Given the description of an element on the screen output the (x, y) to click on. 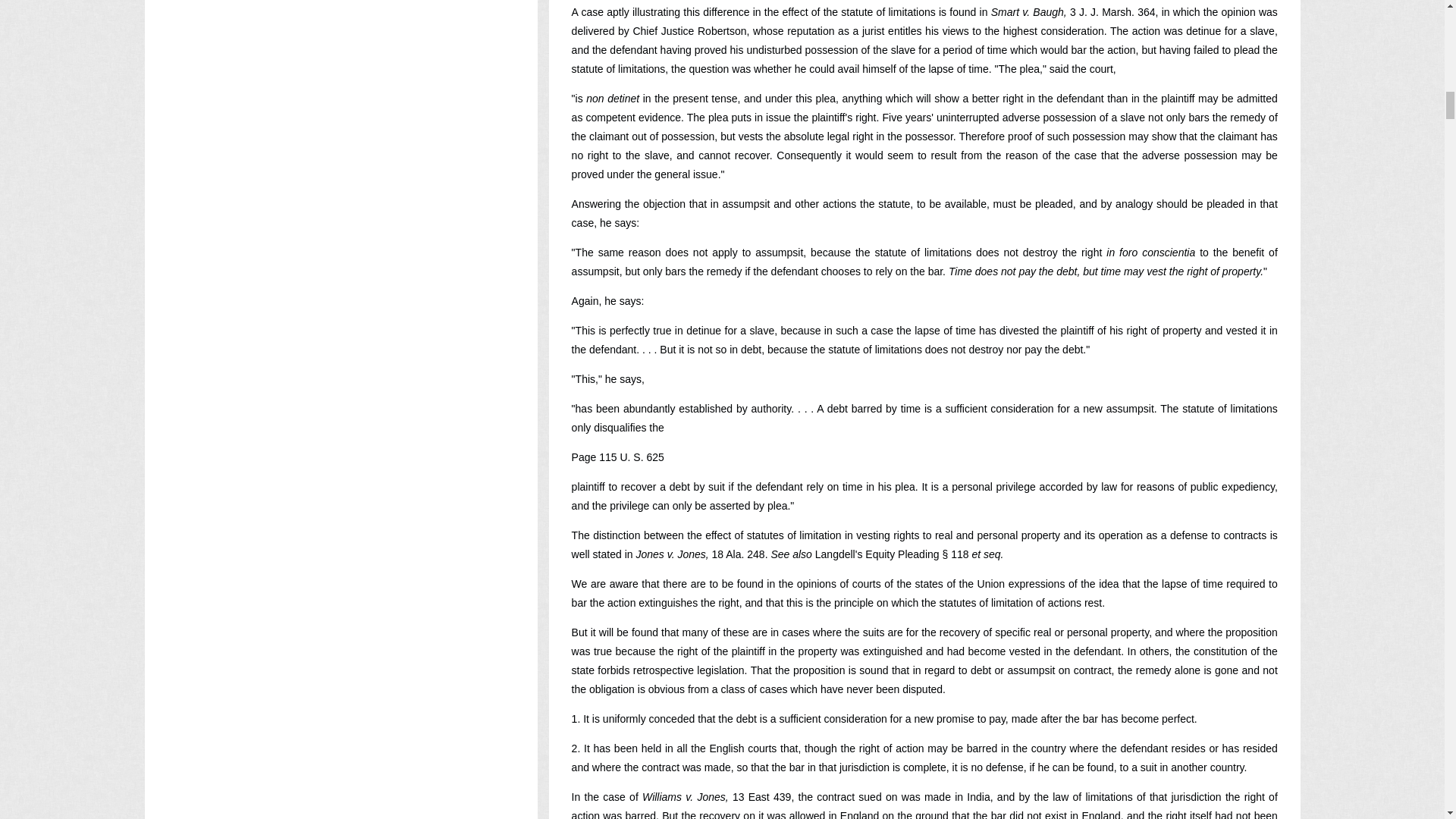
Advertisement (340, 418)
Advertisement (340, 187)
Advertisement (340, 691)
Advertisement (340, 31)
Page 115 U. S. 625 (617, 457)
